Given the description of an element on the screen output the (x, y) to click on. 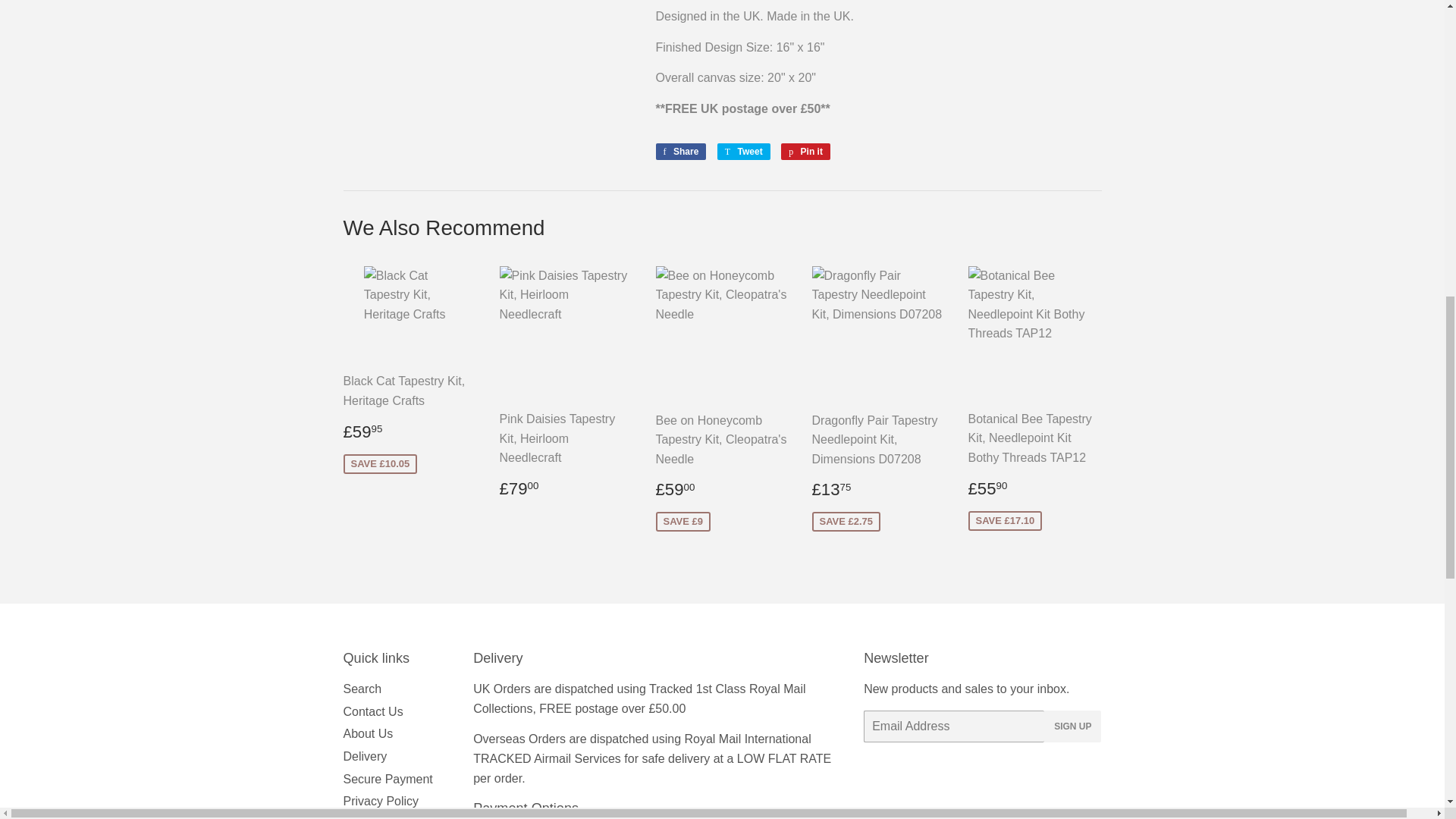
Share on Facebook (680, 151)
Pin on Pinterest (804, 151)
Tweet on Twitter (743, 151)
